Given the description of an element on the screen output the (x, y) to click on. 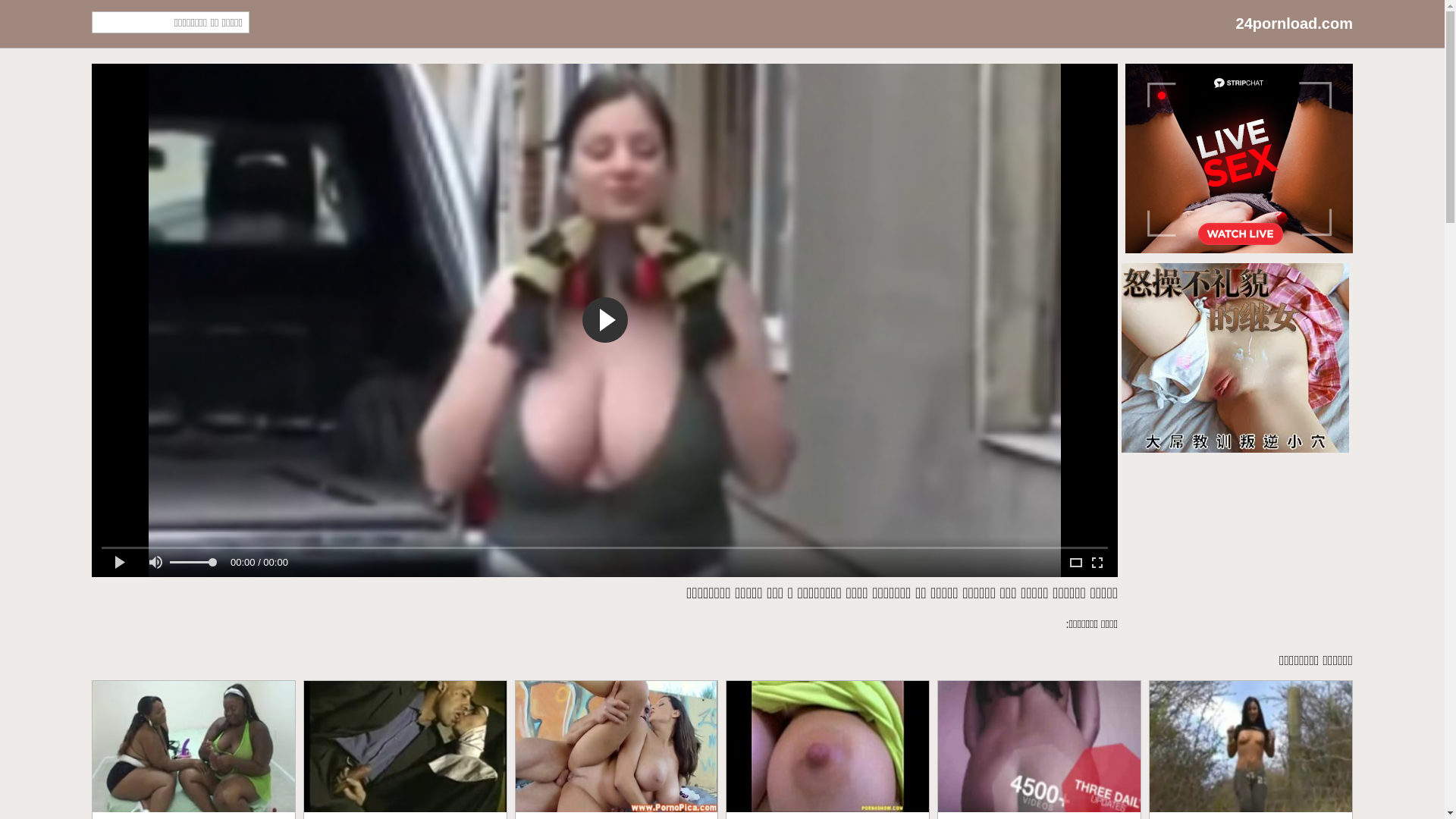
24pornload.com Element type: text (1294, 23)
